Given the description of an element on the screen output the (x, y) to click on. 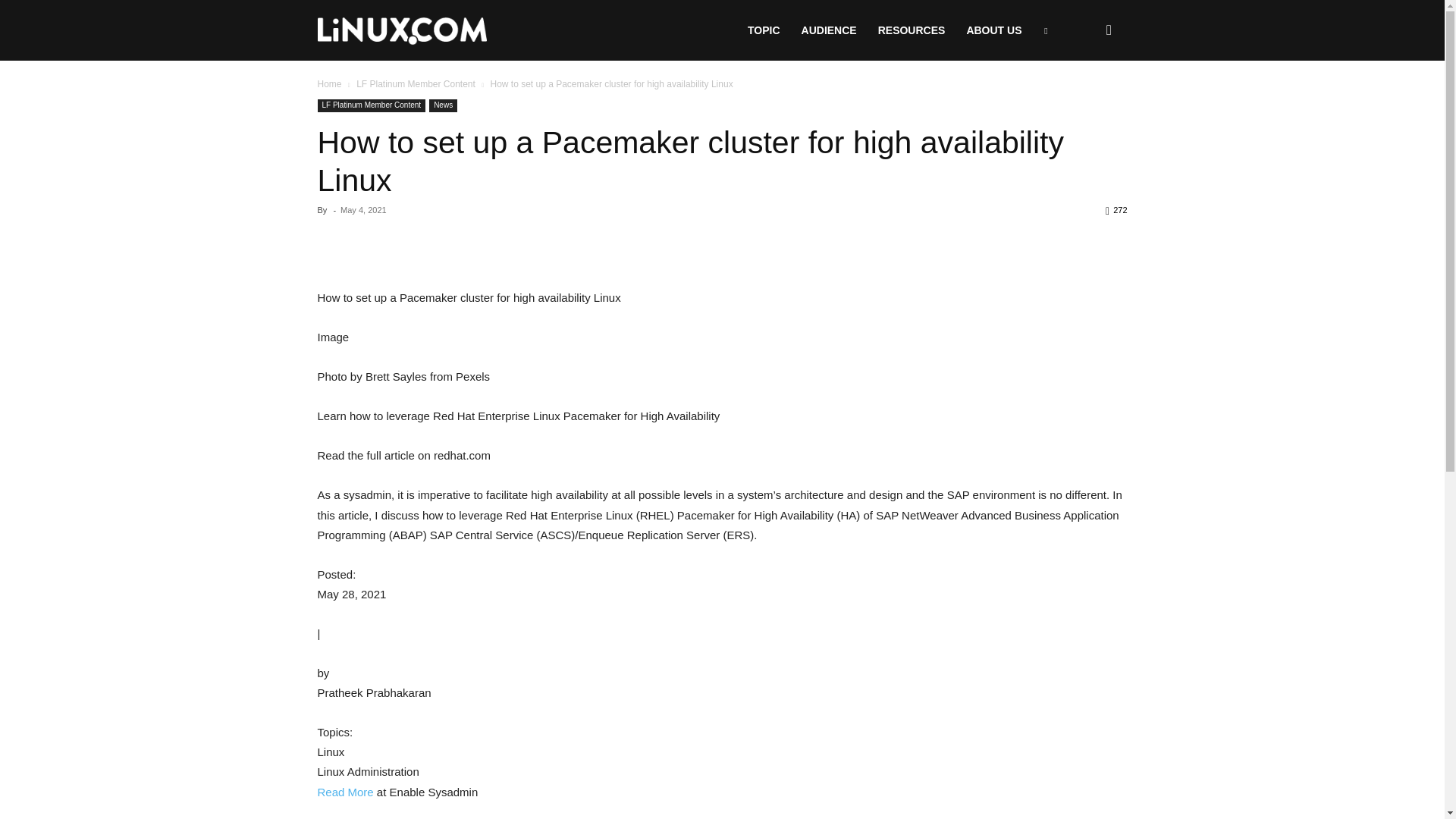
Search (1085, 102)
Linux.com (401, 30)
View all posts in LF Platinum Member Content (416, 83)
Linux.com (401, 30)
